Given the description of an element on the screen output the (x, y) to click on. 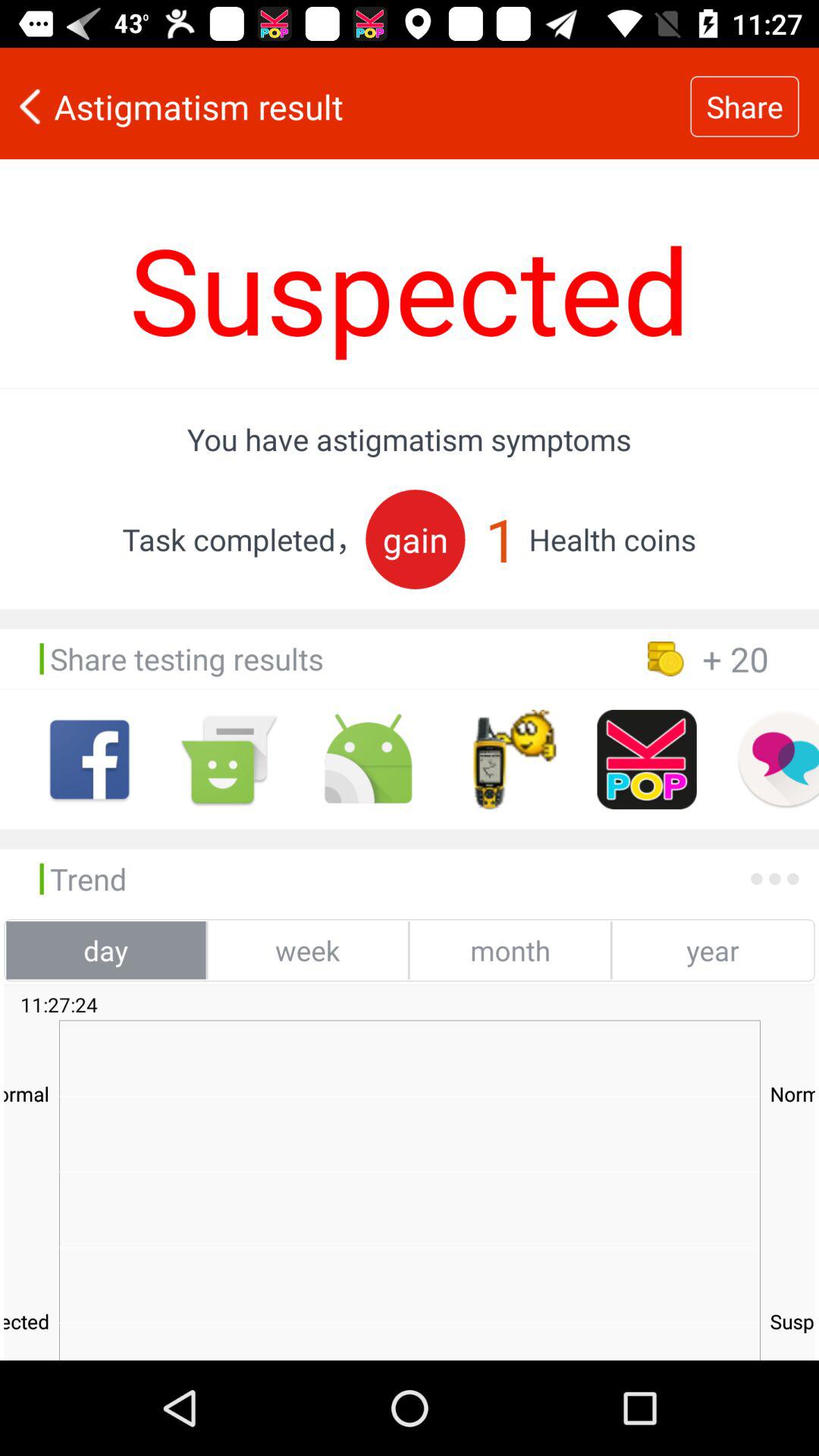
open chat (777, 759)
